Given the description of an element on the screen output the (x, y) to click on. 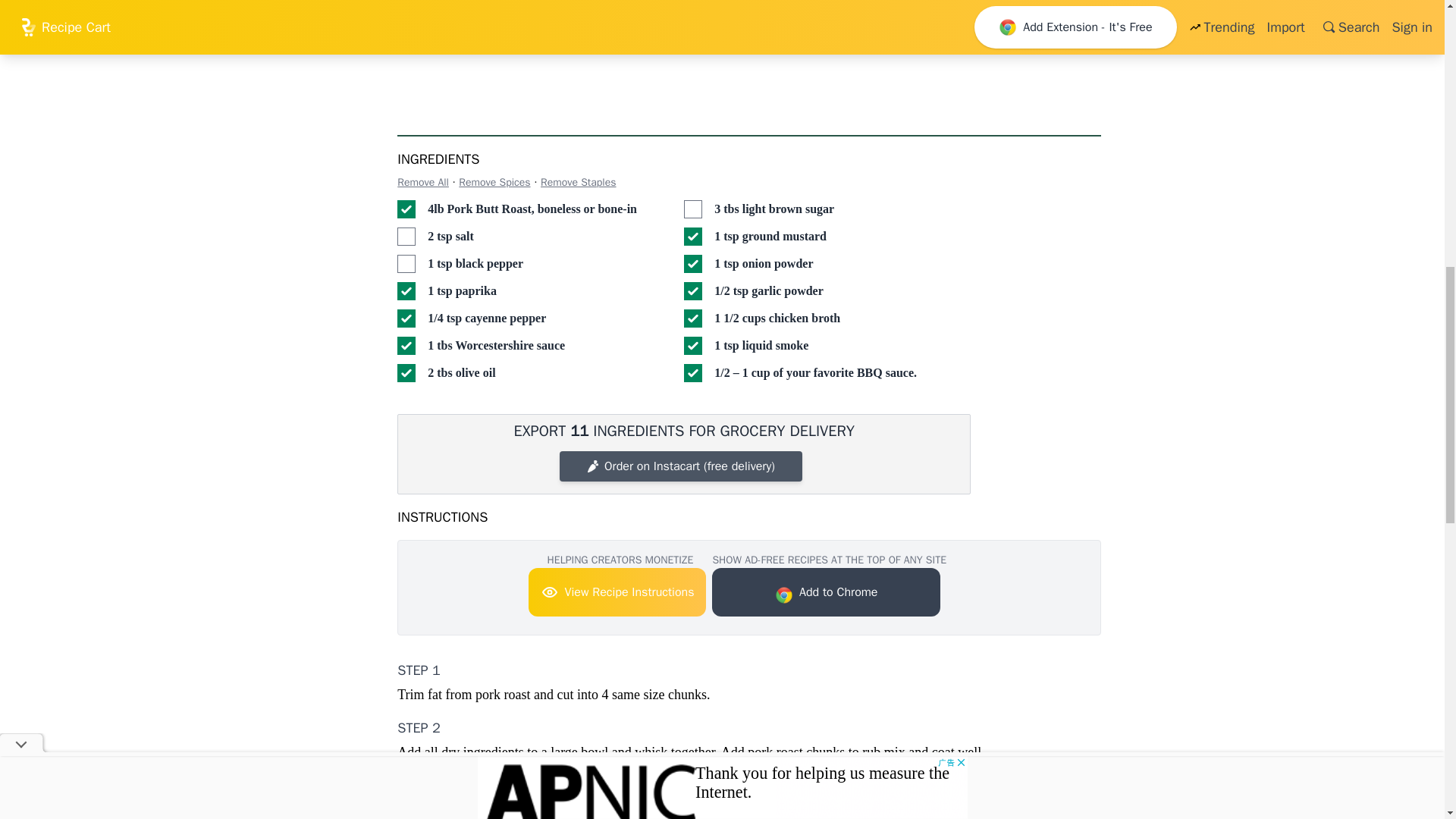
3 tbs light brown sugar (692, 208)
Add to Chrome (825, 592)
1 tsp liquid smoke (692, 345)
Advertisement (852, 55)
1 tsp onion powder (692, 263)
1 tsp black pepper (405, 263)
2 tsp salt (405, 236)
4lb Pork Butt Roast, boneless or bone-in (405, 208)
1 tsp ground mustard (692, 236)
View Recipe Instructions (616, 592)
